Given the description of an element on the screen output the (x, y) to click on. 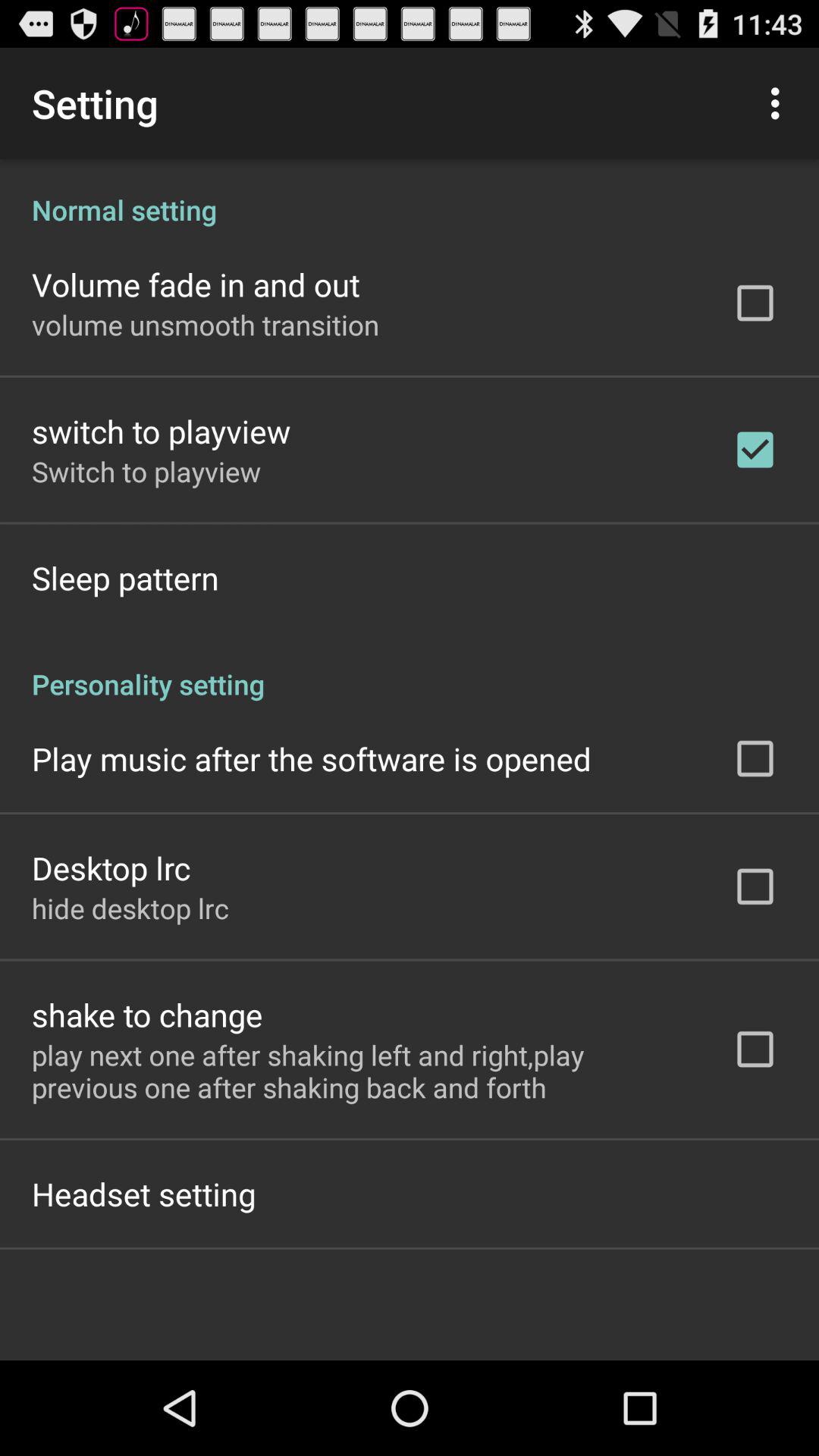
launch the item below the hide desktop lrc icon (146, 1014)
